Given the description of an element on the screen output the (x, y) to click on. 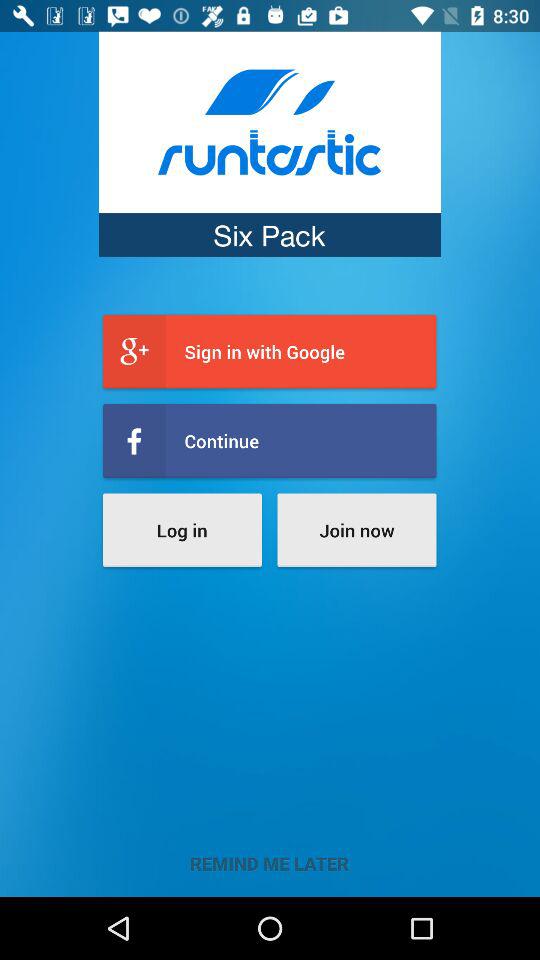
launch item above the log in icon (269, 440)
